Given the description of an element on the screen output the (x, y) to click on. 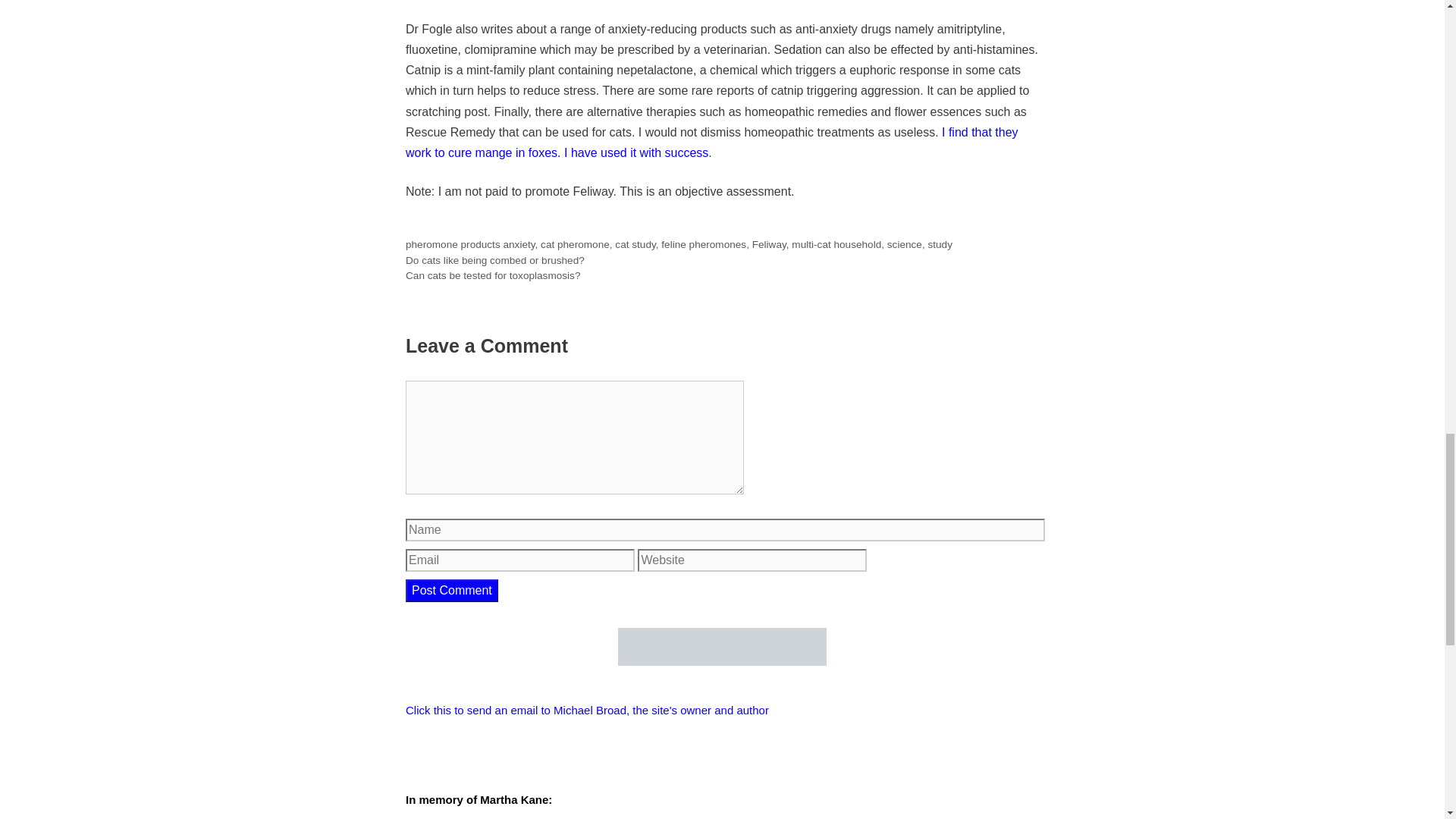
cat pheromone (575, 244)
pheromone products (453, 244)
cat study (634, 244)
anxiety (518, 244)
science (903, 244)
feline pheromones (703, 244)
multi-cat household (836, 244)
Post Comment (451, 590)
Feliway (769, 244)
